Given the description of an element on the screen output the (x, y) to click on. 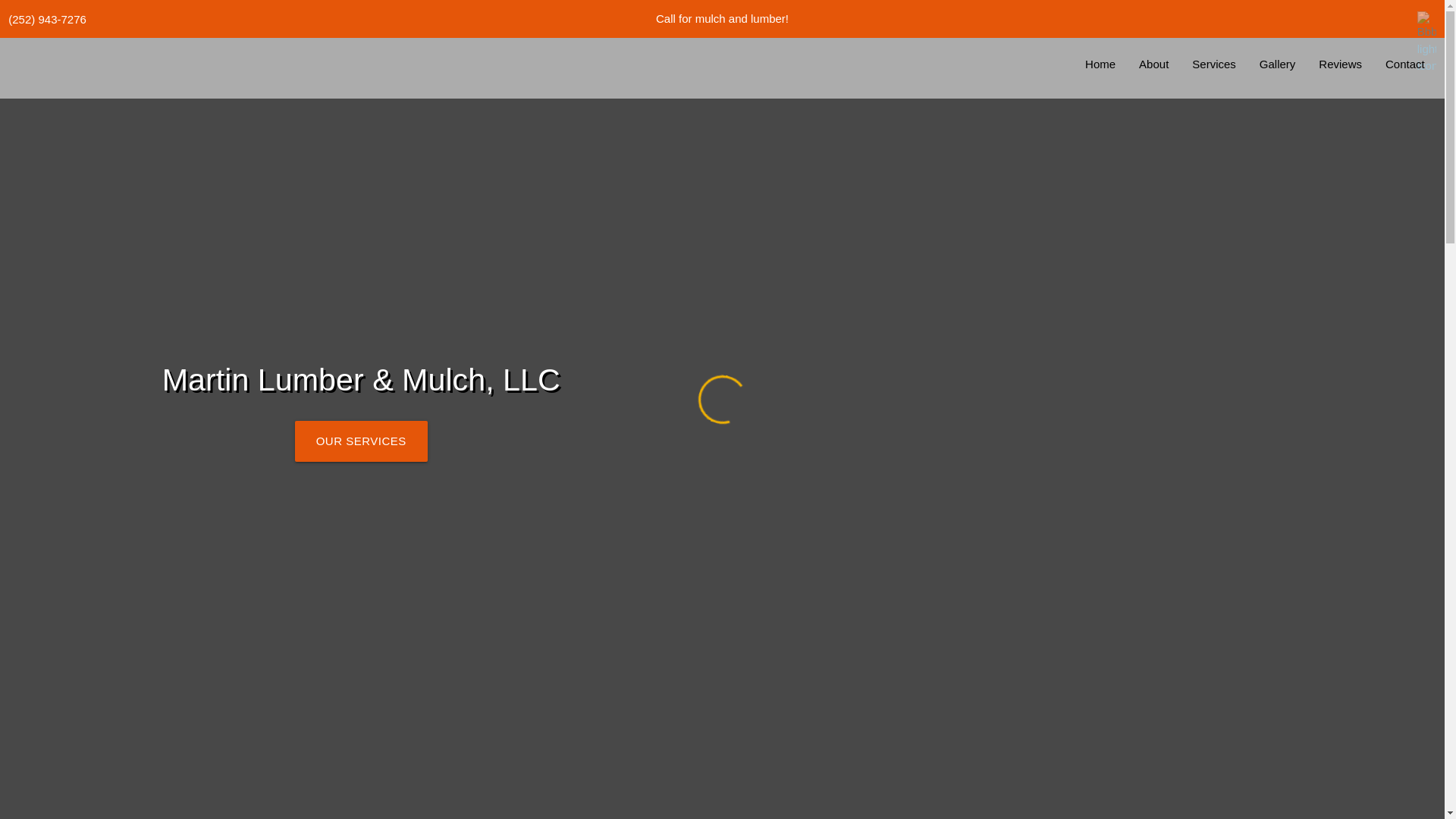
Home (1099, 64)
Contact (1404, 64)
Reviews (1339, 64)
Gallery (1277, 64)
Services (1213, 64)
About (1152, 64)
OUR SERVICES (361, 440)
